Given the description of an element on the screen output the (x, y) to click on. 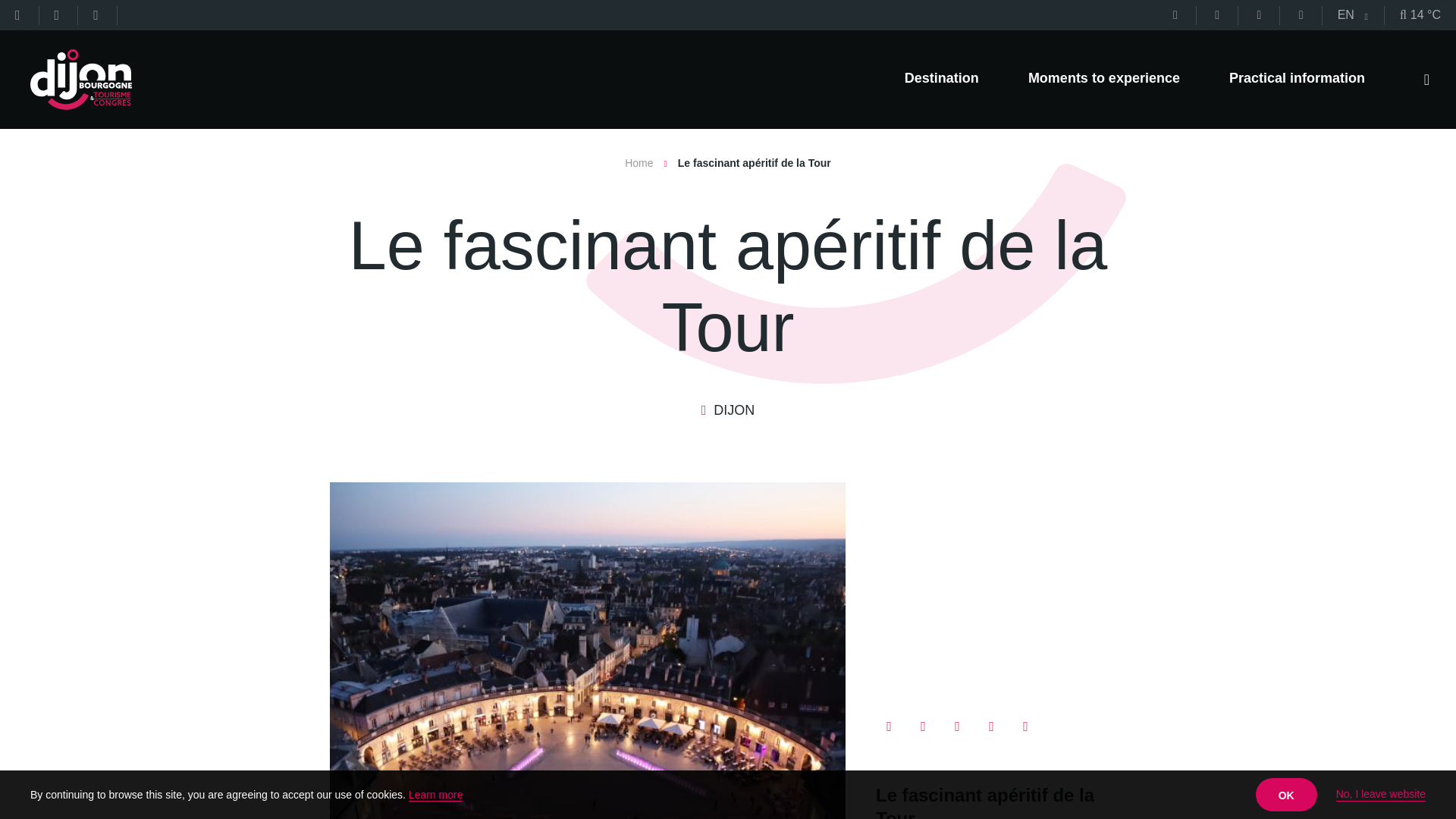
Practical information (1296, 79)
Moments to experience (1103, 79)
Destination (941, 79)
